Given the description of an element on the screen output the (x, y) to click on. 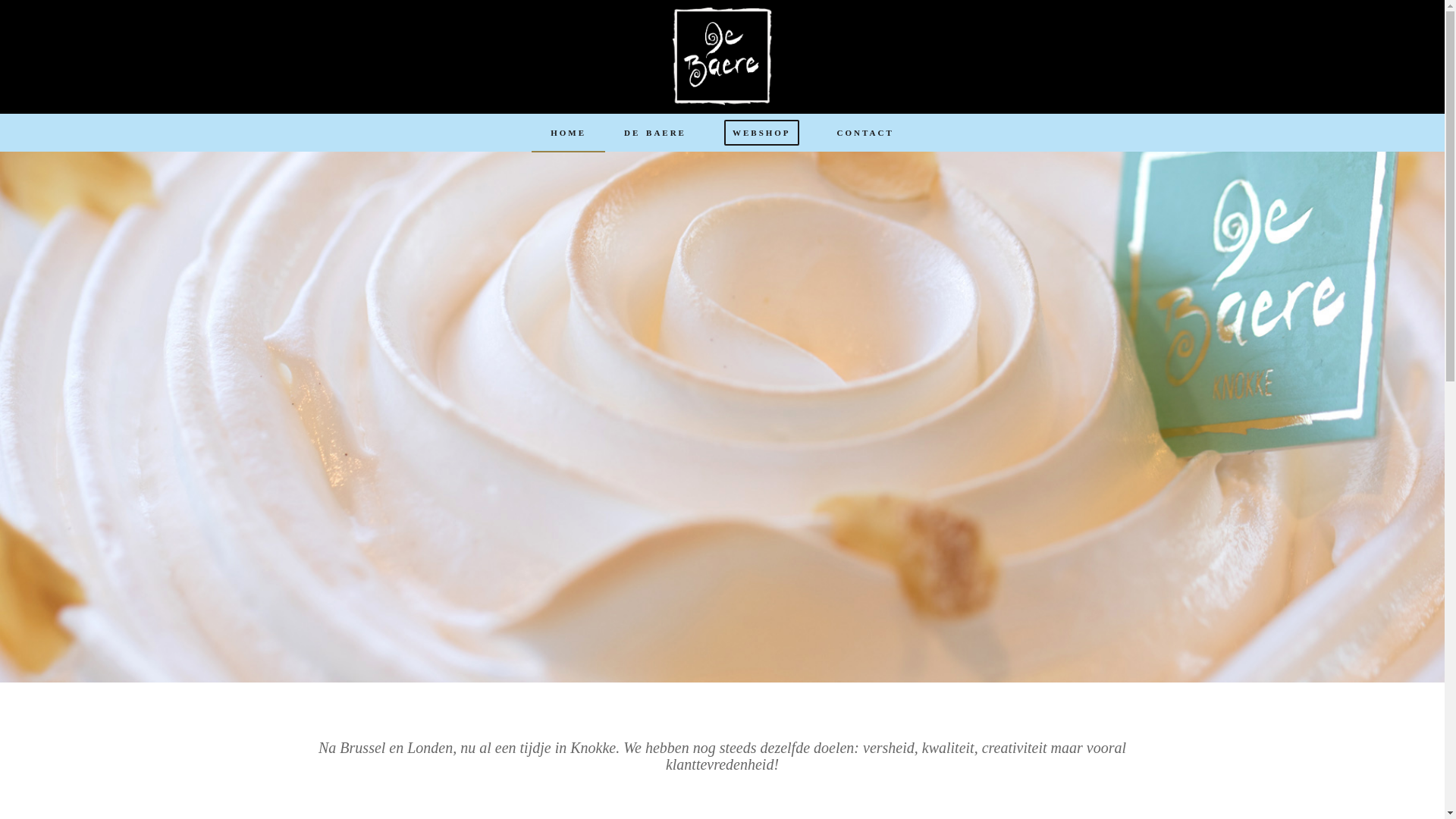
DE BAERE Element type: text (655, 132)
CONTACT Element type: text (865, 132)
WEBSHOP Element type: text (761, 132)
HOME Element type: text (568, 132)
